Given the description of an element on the screen output the (x, y) to click on. 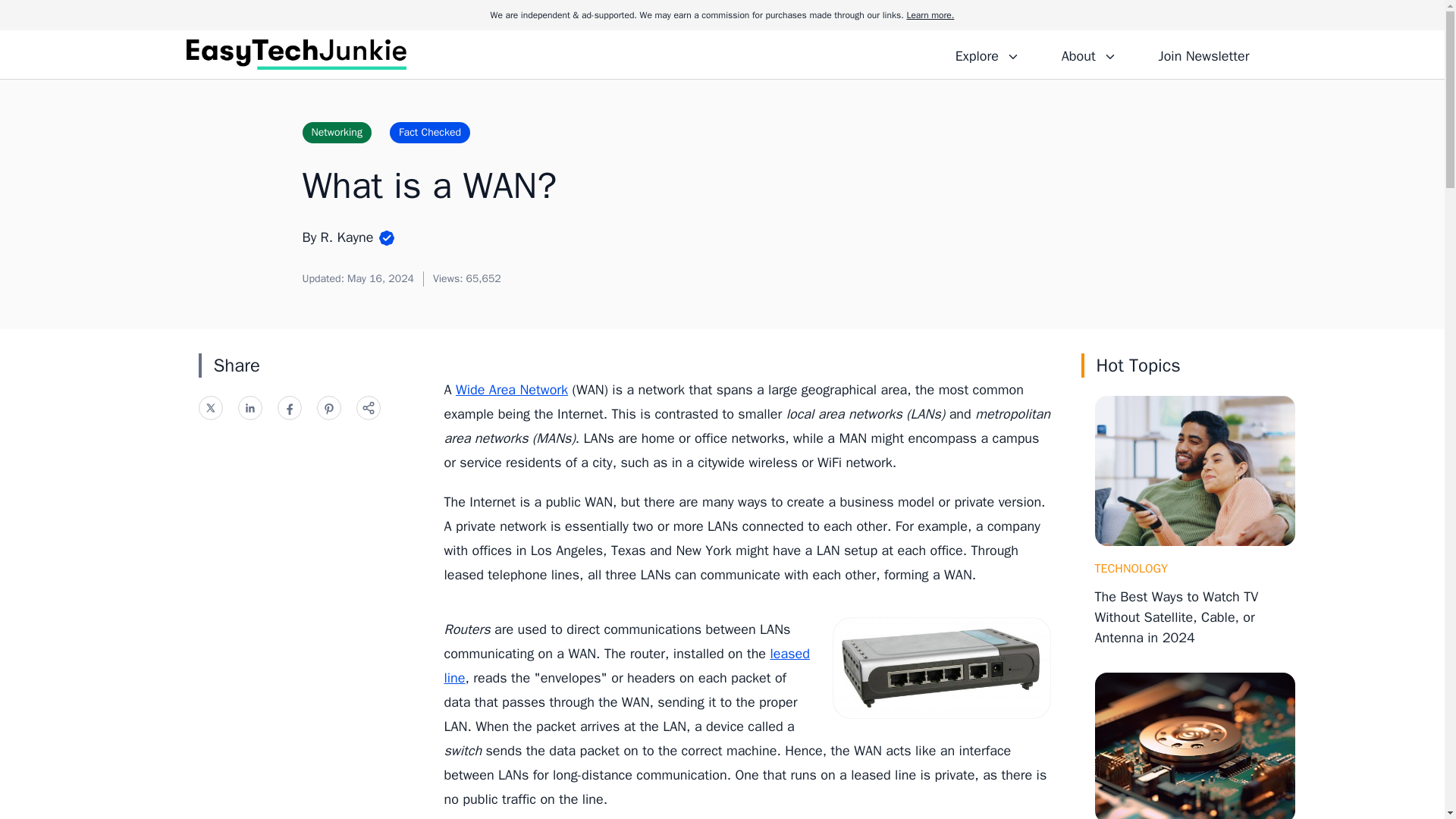
Fact Checked (430, 132)
Networking (336, 132)
About (1088, 54)
Learn more. (929, 15)
Join Newsletter (1202, 54)
Explore (986, 54)
